Given the description of an element on the screen output the (x, y) to click on. 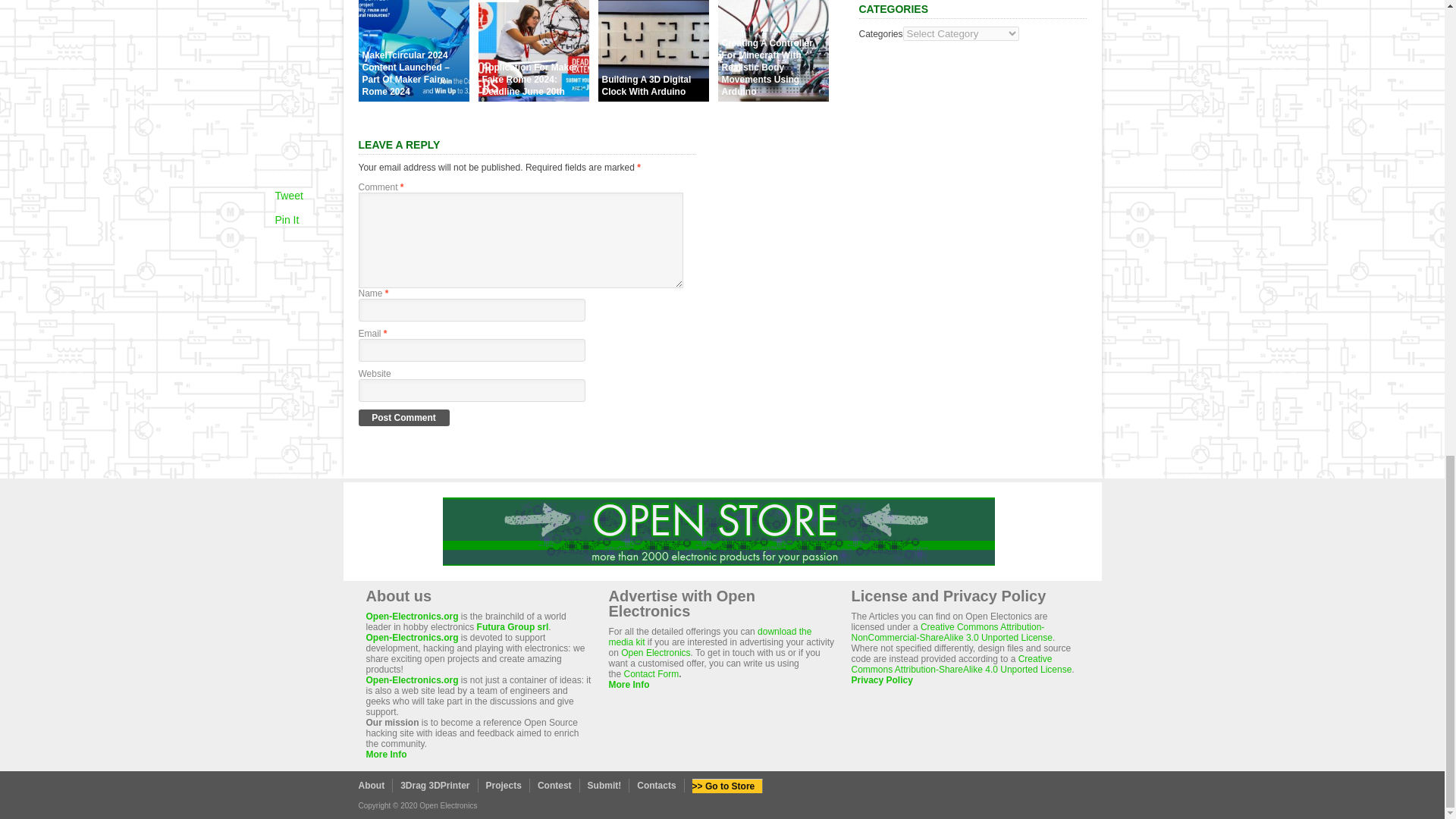
Application For Maker Faire Rome 2024: Deadline June 20th (532, 97)
Building a 3D Digital Clock with Arduino (651, 97)
Post Comment (403, 417)
